Given the description of an element on the screen output the (x, y) to click on. 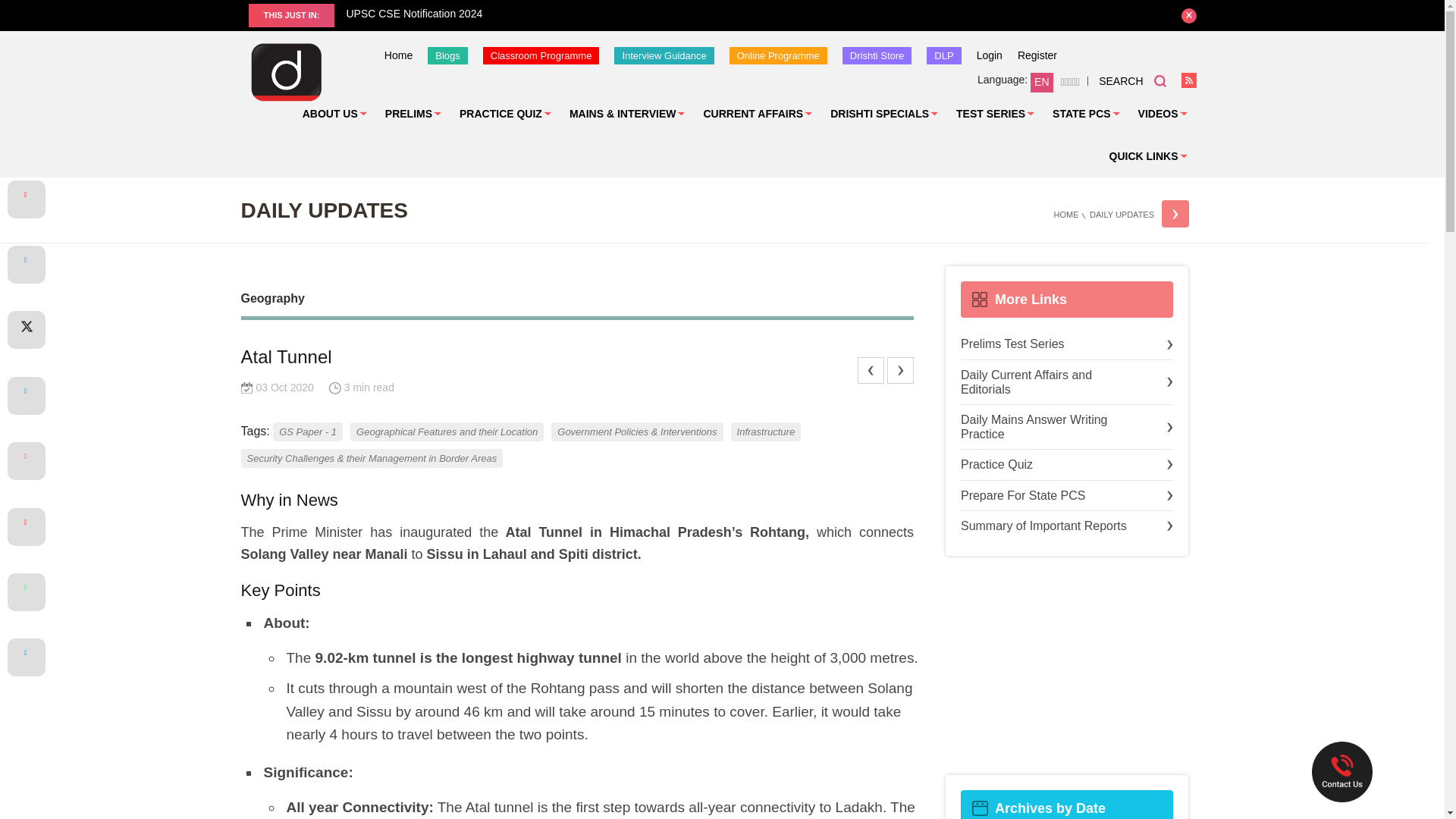
Home (398, 54)
Interview Guidance (663, 55)
SEARCH (1132, 80)
UPSC IFOS Notification - 2024 (173, 13)
DLP (943, 55)
Login (989, 54)
UPSC CSE Notification 2024 (748, 13)
close (1188, 14)
Advertisement (1066, 665)
Drishti Store (877, 55)
EN (1041, 82)
Classroom Programme (541, 55)
Online Programme (778, 55)
Blogs (447, 55)
Register (1037, 54)
